Given the description of an element on the screen output the (x, y) to click on. 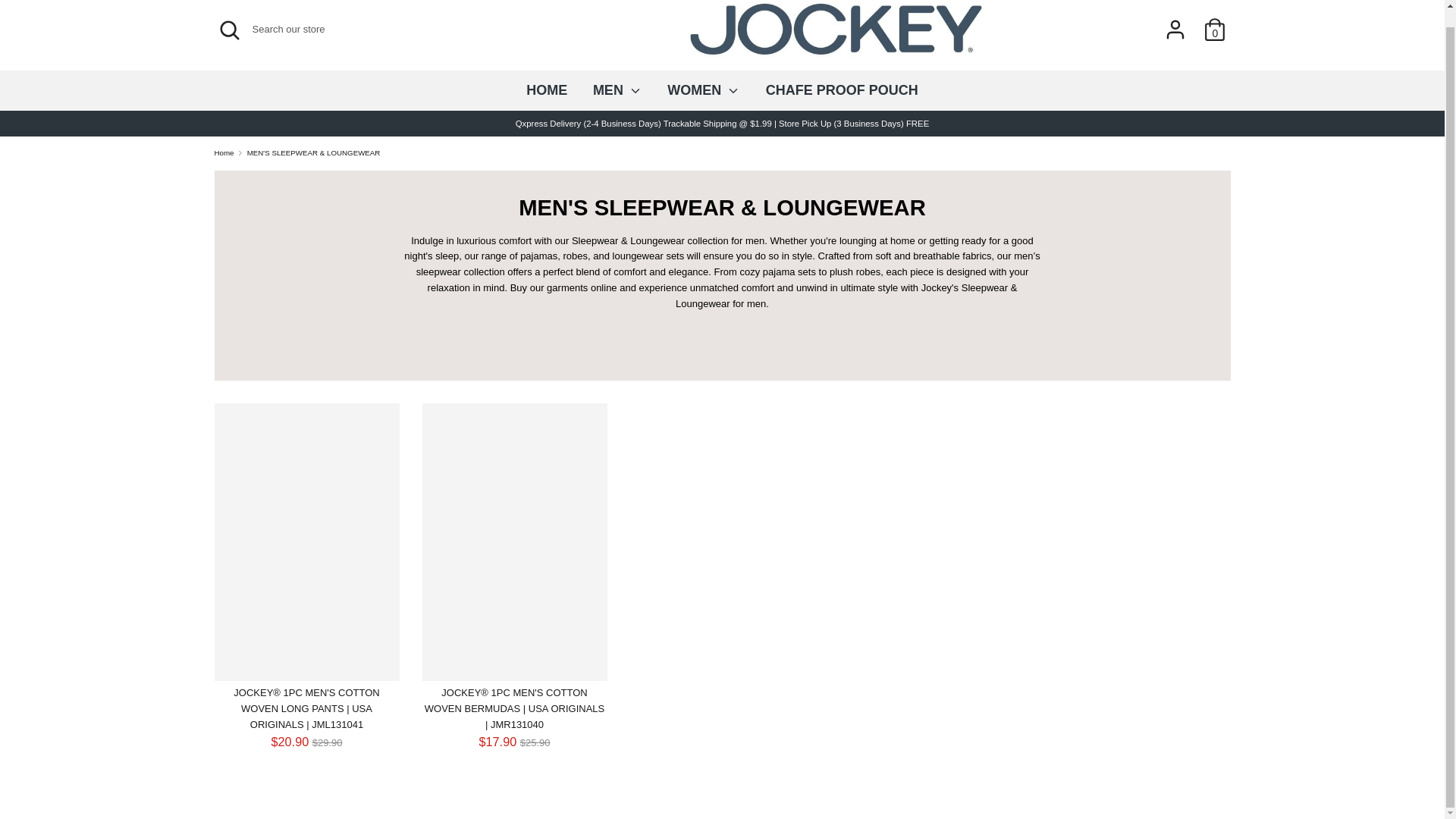
Union Pay (1181, 754)
Mastercard (1147, 754)
Visa (1213, 754)
Google Pay (1114, 754)
0 (1214, 21)
